Given the description of an element on the screen output the (x, y) to click on. 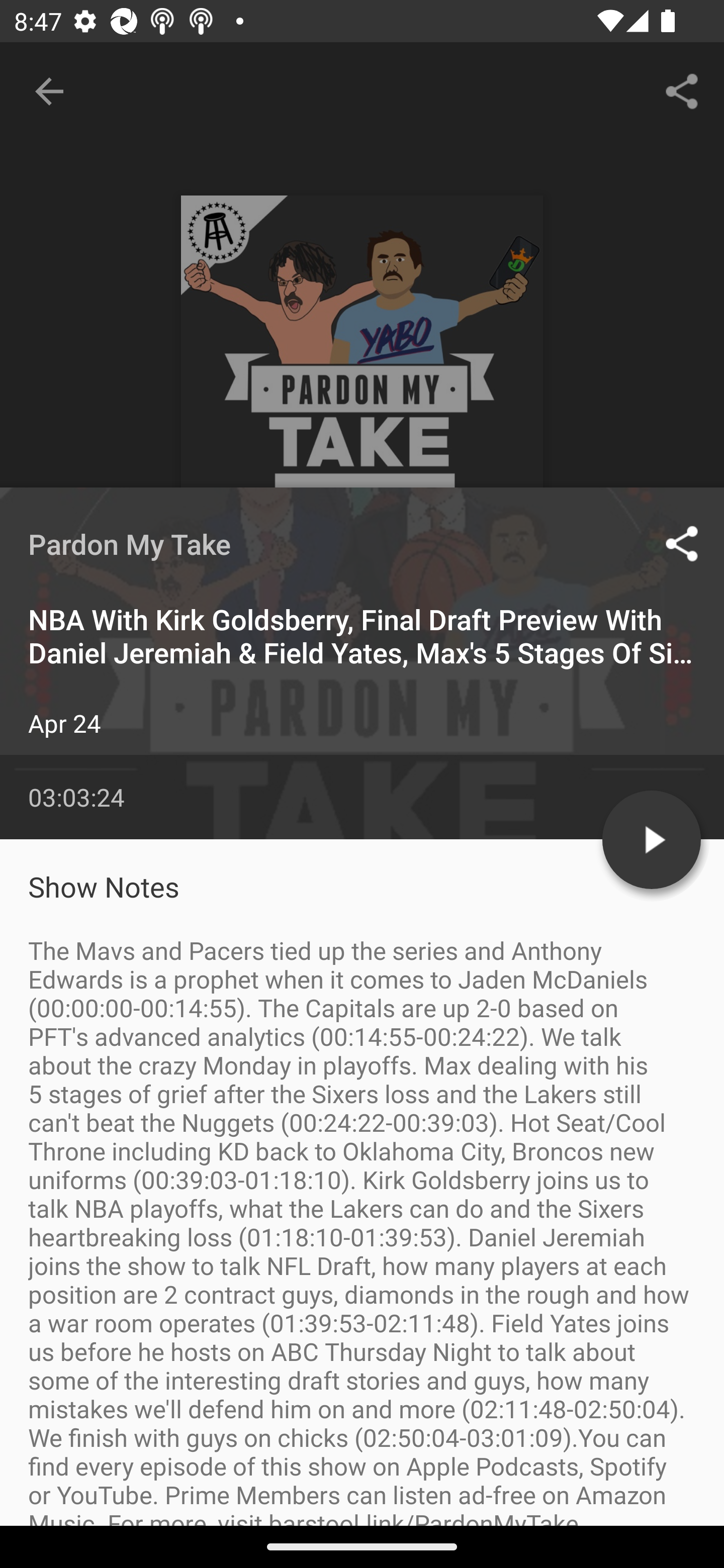
Navigate up (49, 91)
Share... (681, 90)
